Given the description of an element on the screen output the (x, y) to click on. 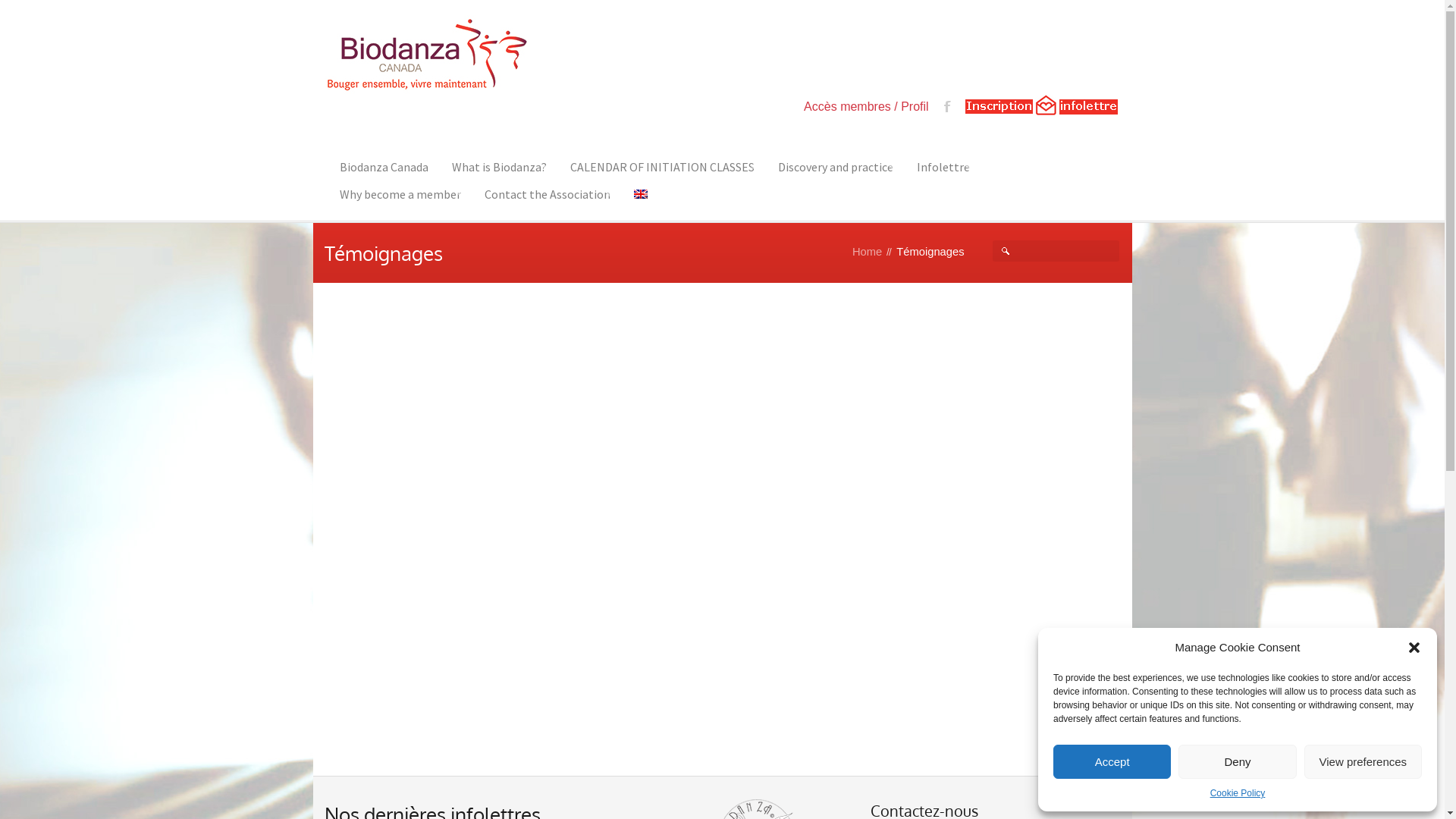
Biodanza Canada: Bouger Ensemble, vivre maintenant Element type: hover (426, 53)
Cookie Policy Element type: text (1237, 793)
facebook Element type: text (947, 105)
Deny Element type: text (1236, 761)
Home Element type: text (866, 251)
View preferences Element type: text (1362, 761)
Accept Element type: text (1111, 761)
Biodanza Canada Element type: text (383, 166)
Search Element type: text (64, 10)
YouTube player Element type: hover (722, 529)
